Given the description of an element on the screen output the (x, y) to click on. 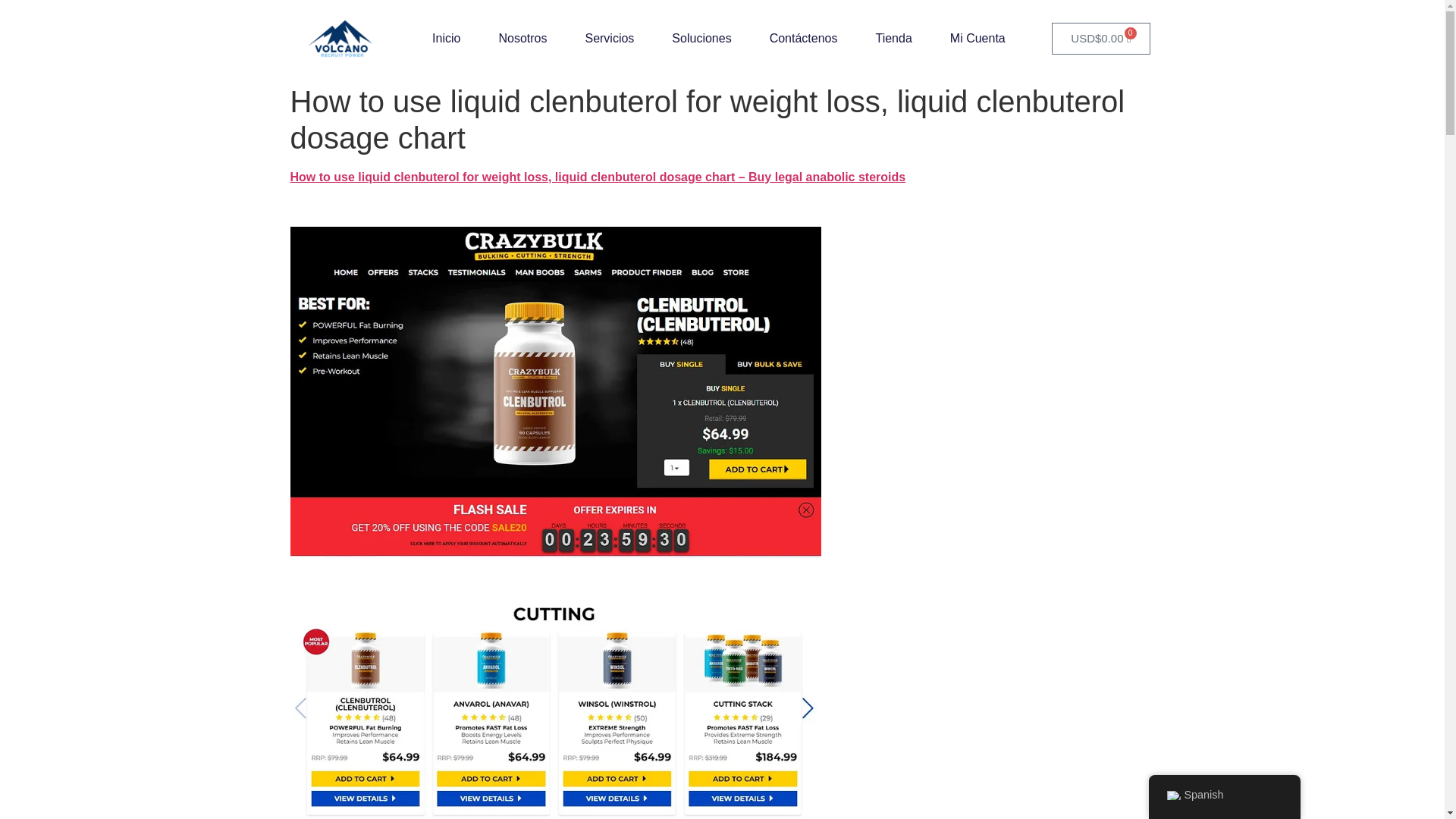
for liquid use clenbuterol to weight how loss (555, 710)
Mi Cuenta (978, 38)
Servicios (609, 38)
Soluciones (700, 38)
Spanish (1224, 795)
Spanish (1172, 795)
Tienda (893, 38)
Nosotros (522, 38)
